Given the description of an element on the screen output the (x, y) to click on. 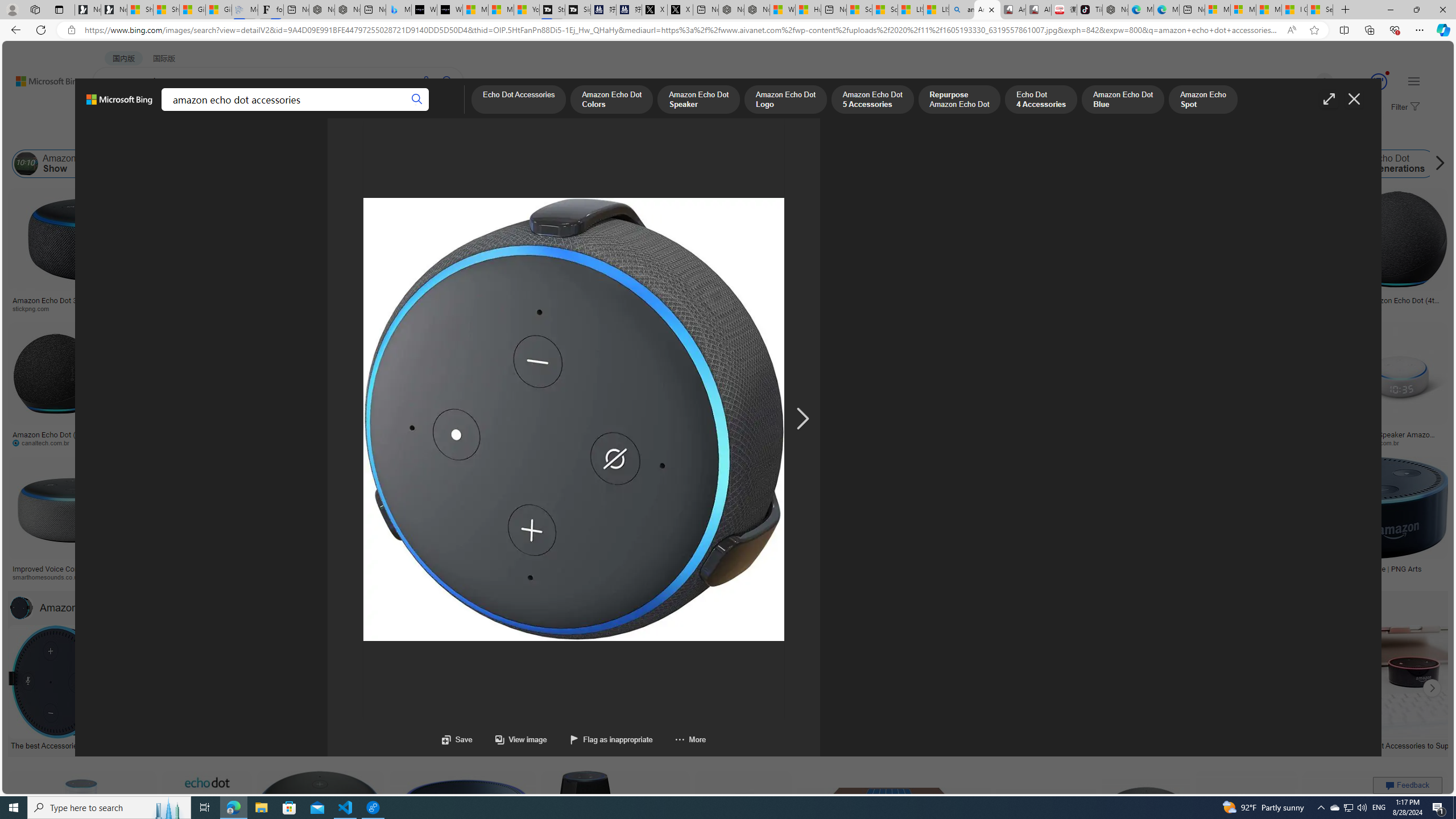
security.org (249, 576)
Amazon Echo Spot (1165, 163)
WEB (114, 111)
Amazon Echo Spot (1130, 163)
amazon - Search (961, 9)
Microsoft Rewards 147 (1364, 81)
Type (212, 135)
Amazon Echo Speaker (717, 163)
What's the best AI voice generator? - voice.ai (449, 9)
